Given the description of an element on the screen output the (x, y) to click on. 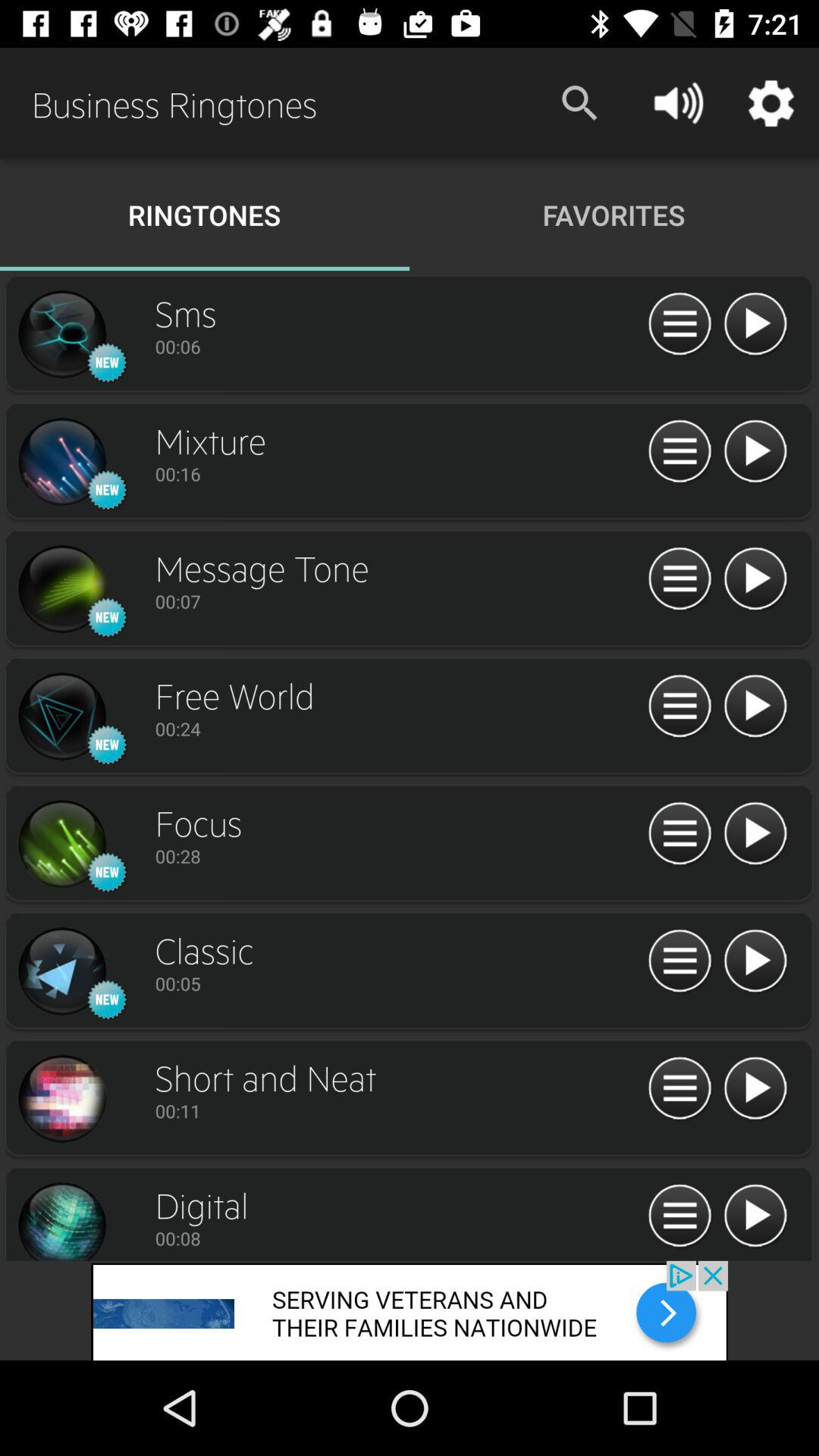
play (755, 1088)
